Given the description of an element on the screen output the (x, y) to click on. 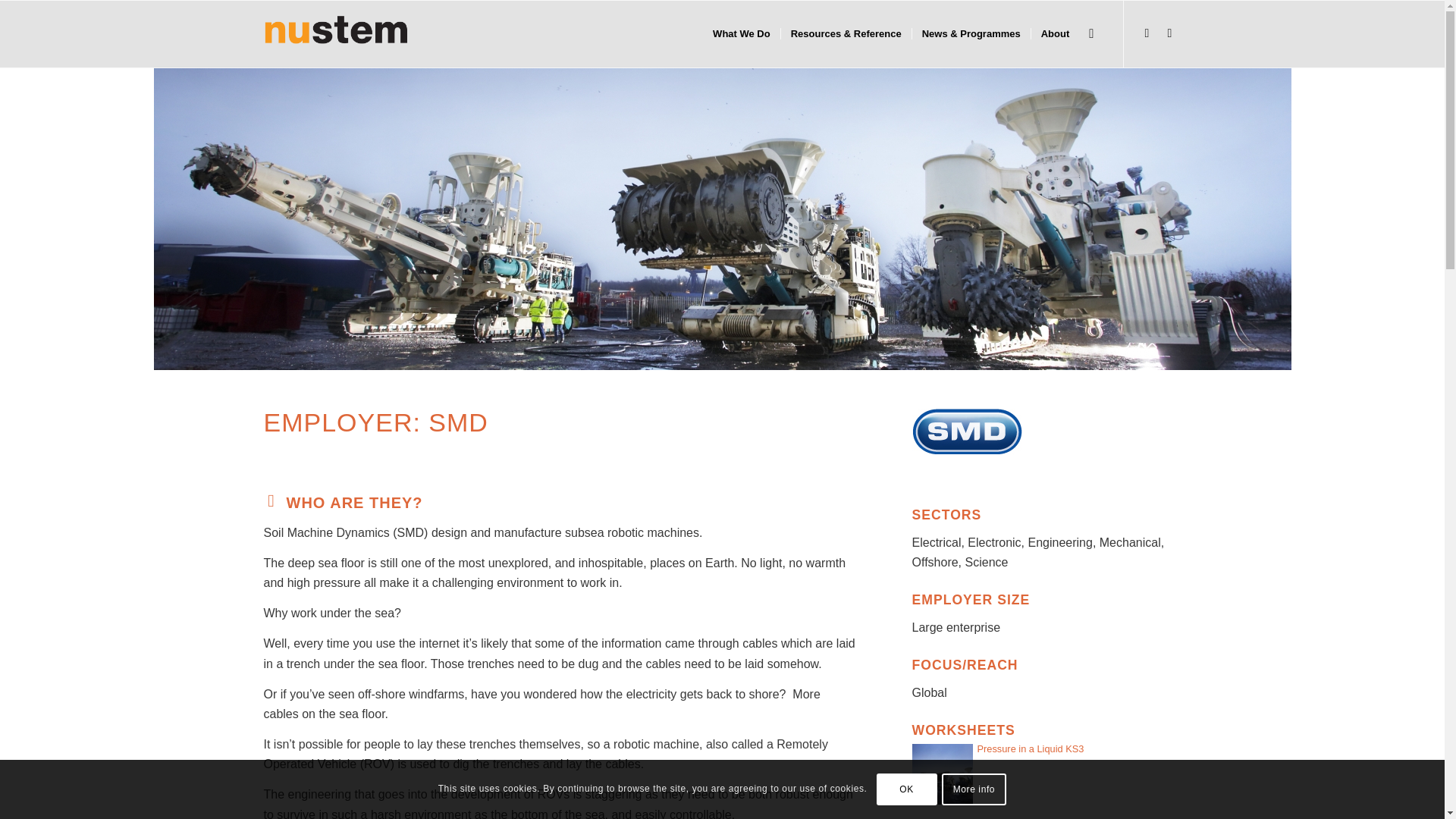
X (1146, 33)
What We Do (741, 33)
Facebook (1169, 33)
logo-banner (336, 33)
